Given the description of an element on the screen output the (x, y) to click on. 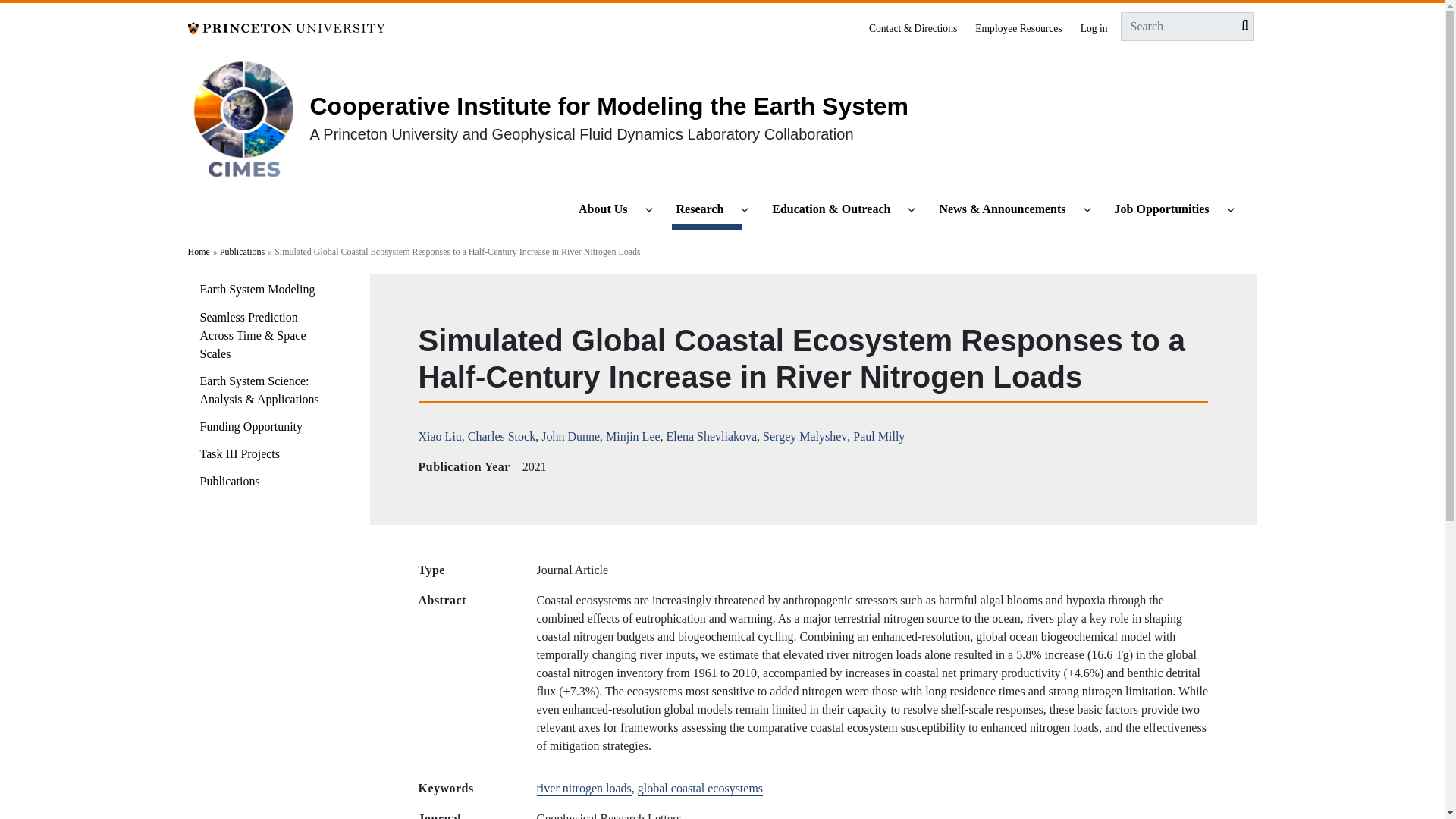
Princeton University (286, 26)
Cooperative Institute for Modeling the Earth System (607, 105)
Home (607, 105)
Submit (1240, 25)
Job Opportunities (1168, 210)
Home (248, 123)
About Us (609, 210)
